Given the description of an element on the screen output the (x, y) to click on. 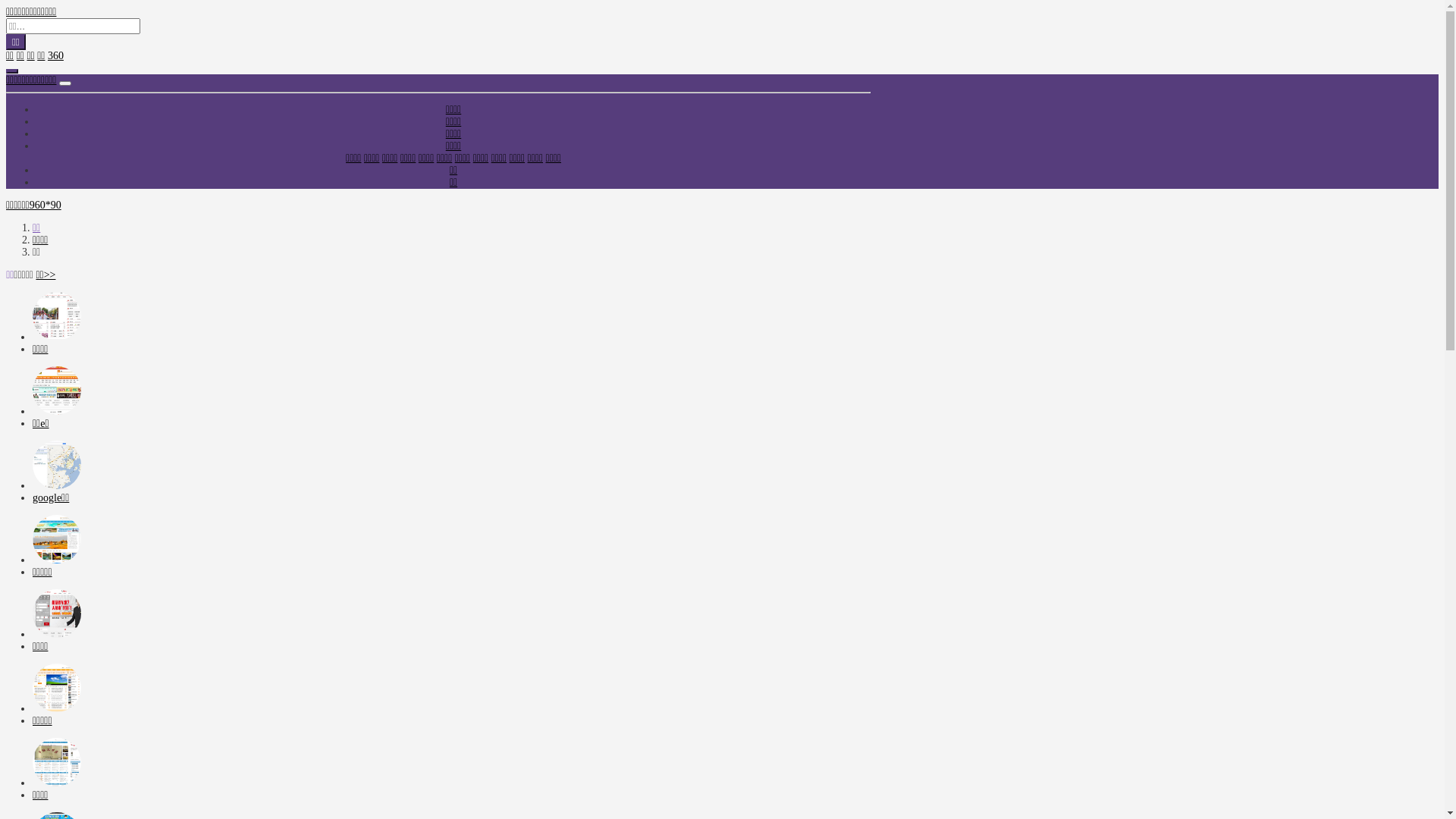
360 Element type: text (55, 55)
